Given the description of an element on the screen output the (x, y) to click on. 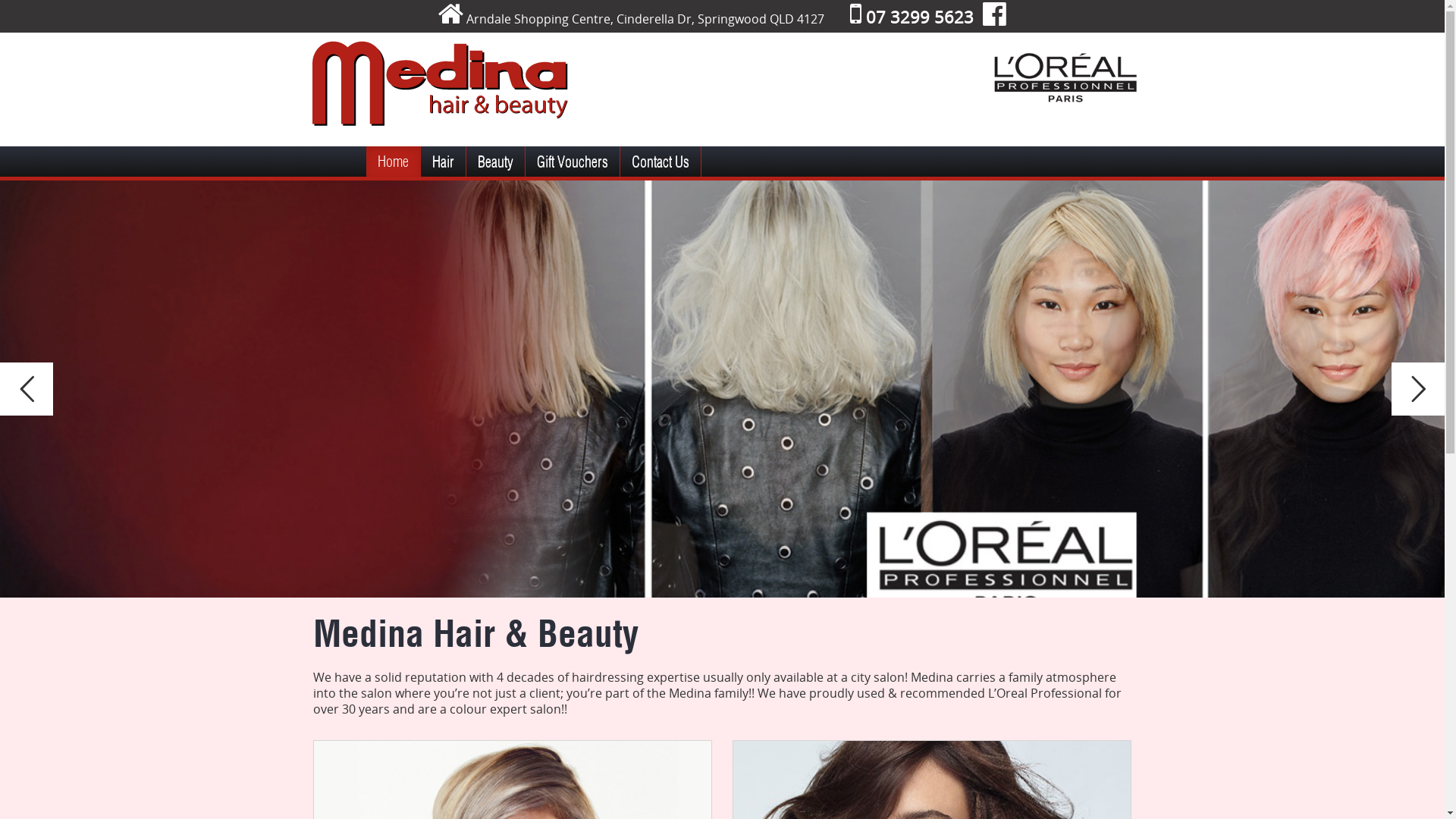
Beauty Element type: text (494, 161)
Contact Us Element type: text (660, 161)
 07 3299 5623 Element type: text (911, 16)
Arndale Shopping Centre, Cinderella Dr, Springwood QLD 4127 Element type: text (645, 18)
Gift Vouchers Element type: text (571, 161)
Hair Element type: text (442, 161)
Home Element type: text (392, 161)
